Given the description of an element on the screen output the (x, y) to click on. 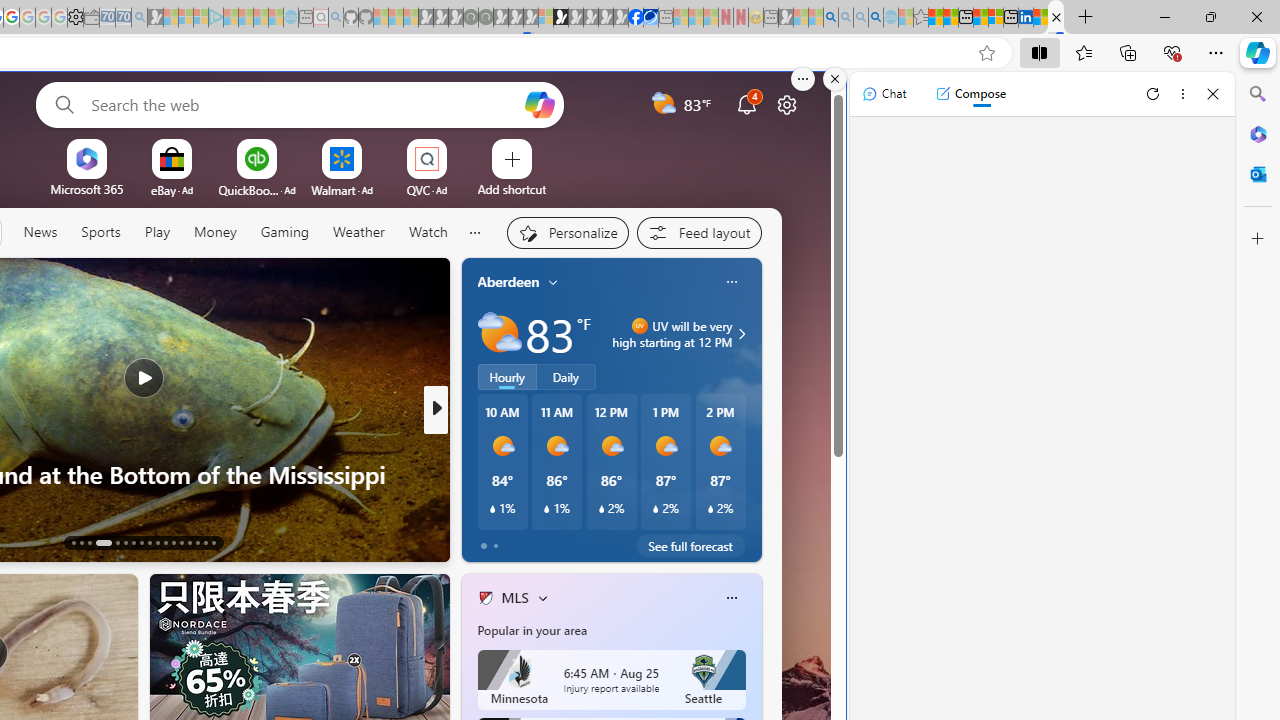
Secret History (477, 473)
Partly sunny (499, 333)
199 Like (490, 541)
Compose (970, 93)
EatingWell (477, 442)
